Given the description of an element on the screen output the (x, y) to click on. 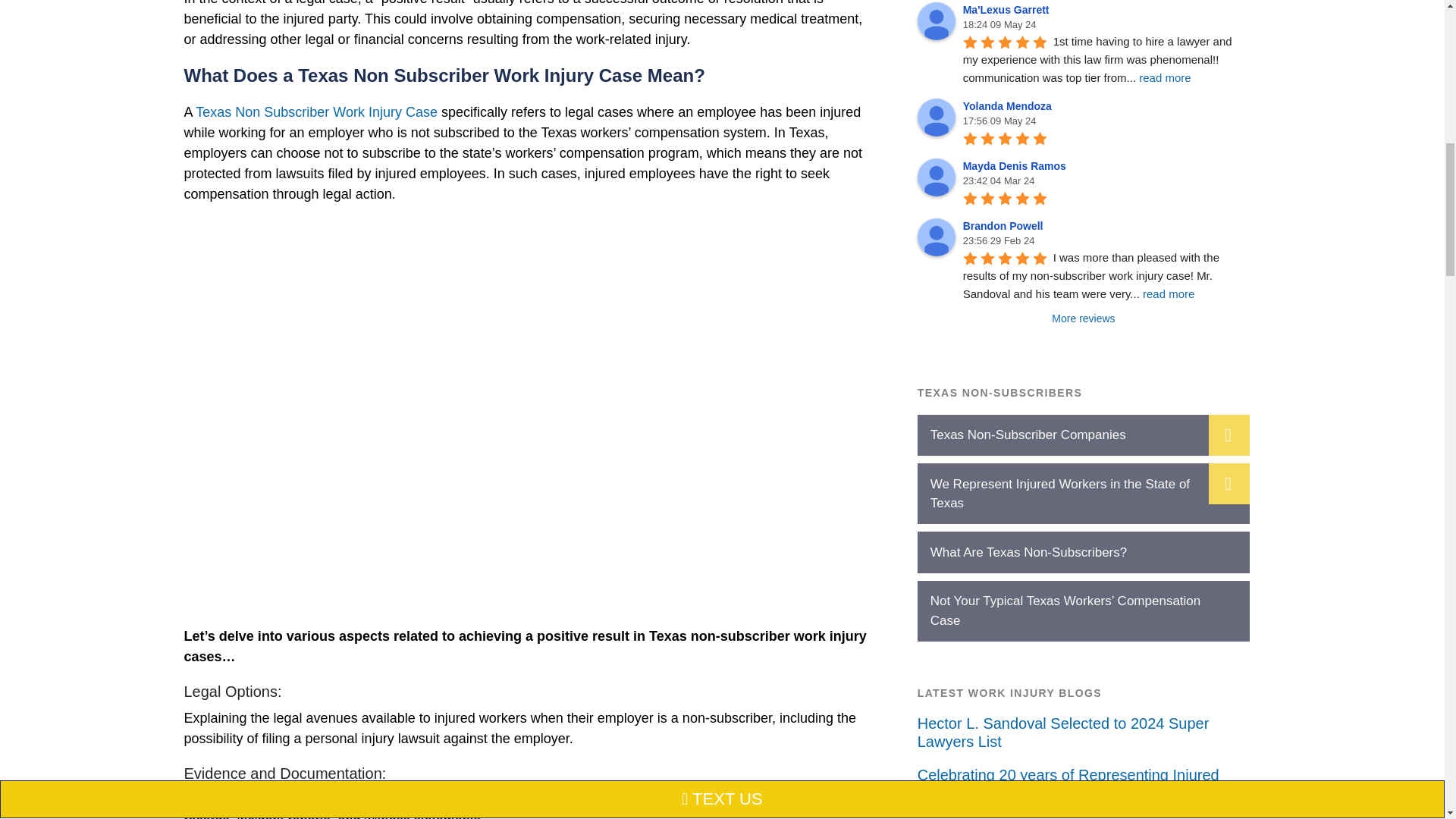
Ma'Lexus Garrett (936, 21)
Brandon Powell (936, 237)
Mayda Denis Ramos (936, 177)
Yolanda Mendoza (936, 117)
